Given the description of an element on the screen output the (x, y) to click on. 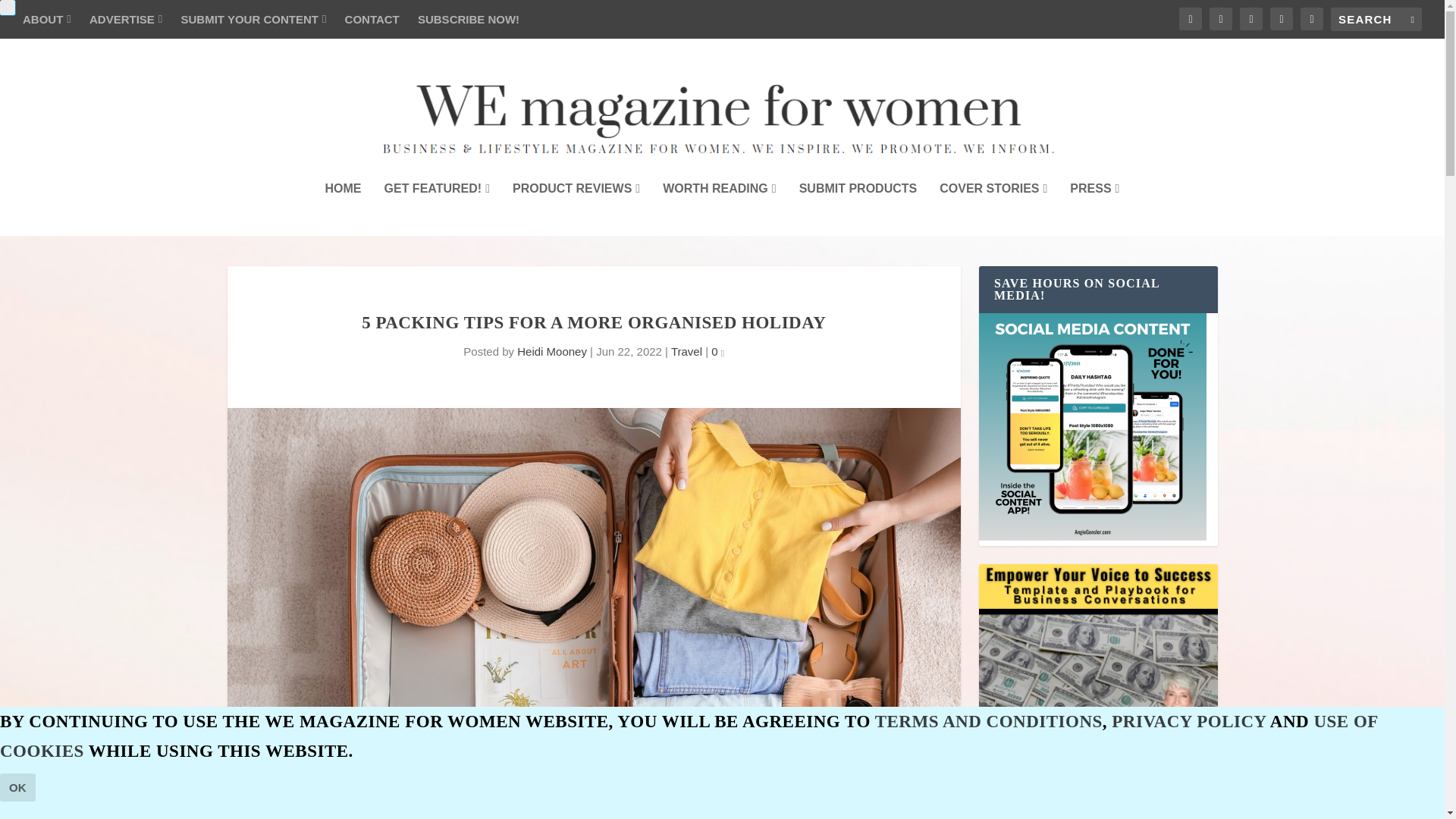
Posts by Heidi Mooney (551, 350)
PRODUCT REVIEWS (576, 208)
COVER STORIES (992, 208)
ADVERTISE (124, 19)
PRESS (1094, 208)
comment count (721, 353)
GET FEATURED! (436, 208)
HOME (342, 208)
ABOUT (47, 19)
Search for: (1376, 19)
CONTACT (371, 19)
SUBMIT PRODUCTS (858, 208)
SUBMIT YOUR CONTENT (253, 19)
WORTH READING (719, 208)
SUBSCRIBE NOW! (468, 19)
